Given the description of an element on the screen output the (x, y) to click on. 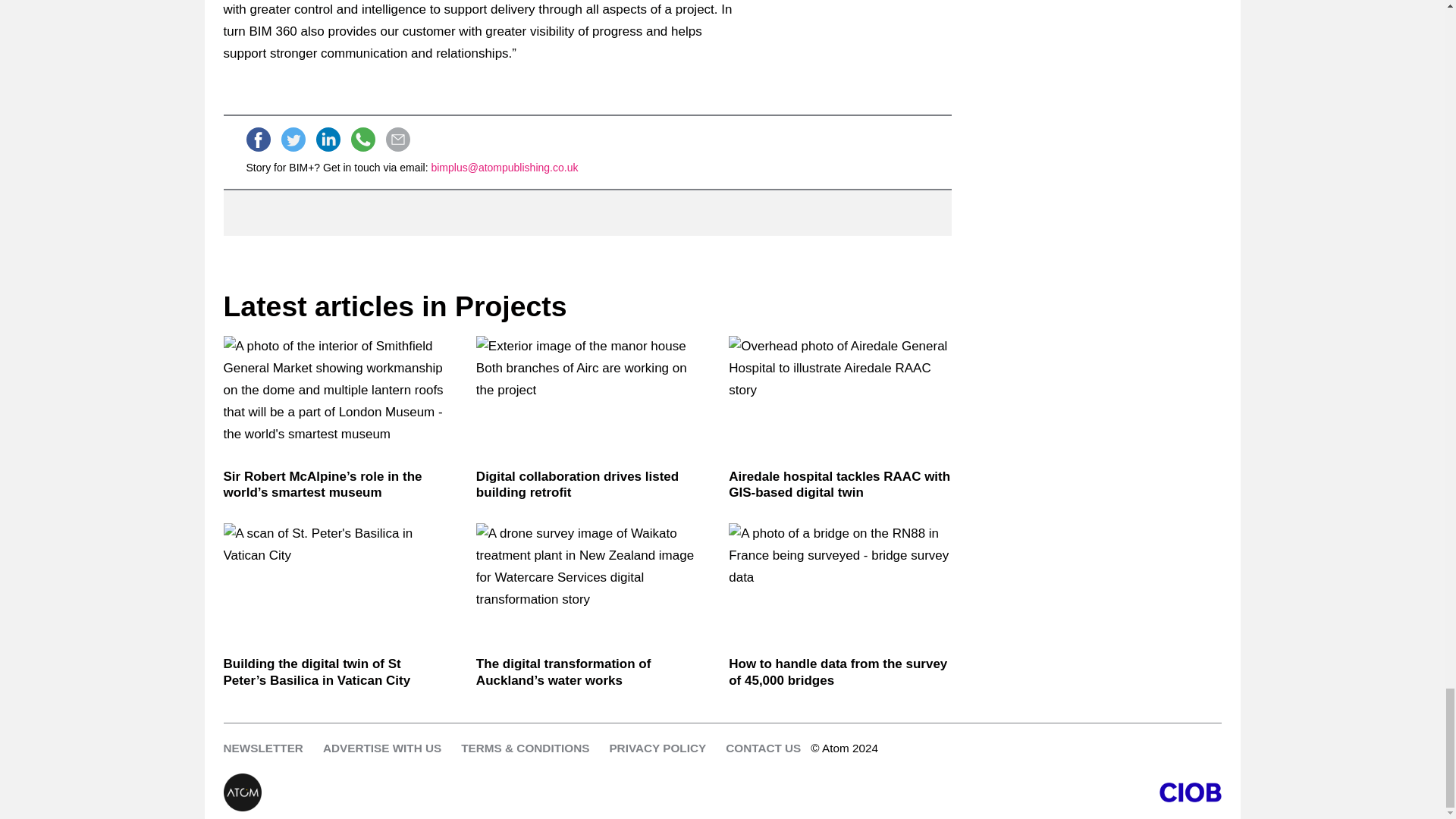
Tweet (292, 139)
Send email (397, 139)
Share on LinkedIn (327, 139)
Share on WhatsApp (362, 139)
Share on Facebook (257, 139)
